Given the description of an element on the screen output the (x, y) to click on. 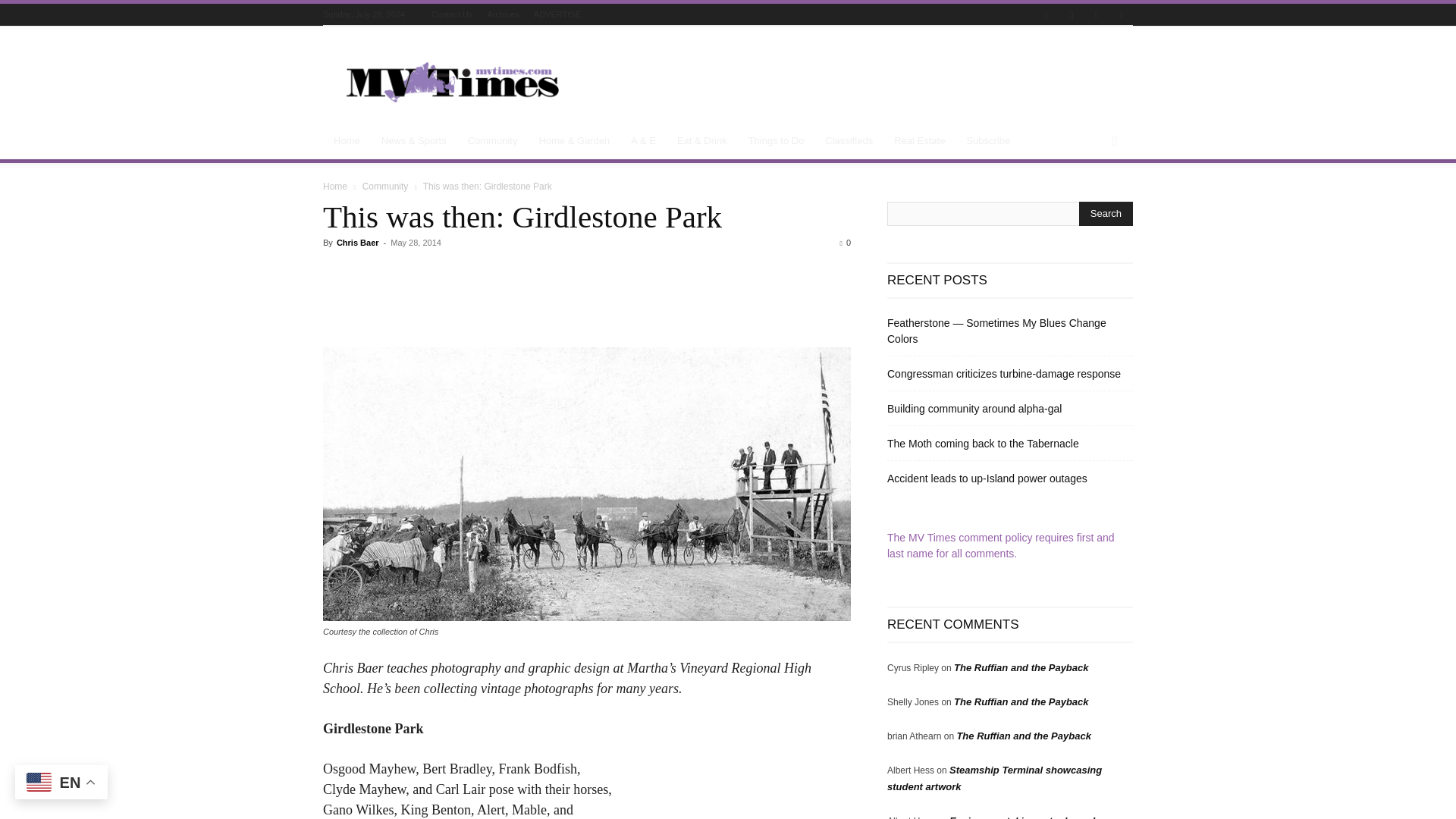
ADVERTISE (557, 13)
Contact Us (450, 13)
Facebook (1046, 14)
Community (492, 140)
Things to Do (776, 140)
Classifieds (848, 140)
Real Estate (919, 140)
Archives (503, 13)
Search (1105, 213)
3rd party ad content (856, 81)
Twitter (1096, 14)
Instagram (1071, 14)
View all posts in Community (385, 185)
Home (347, 140)
Youtube (1120, 14)
